Given the description of an element on the screen output the (x, y) to click on. 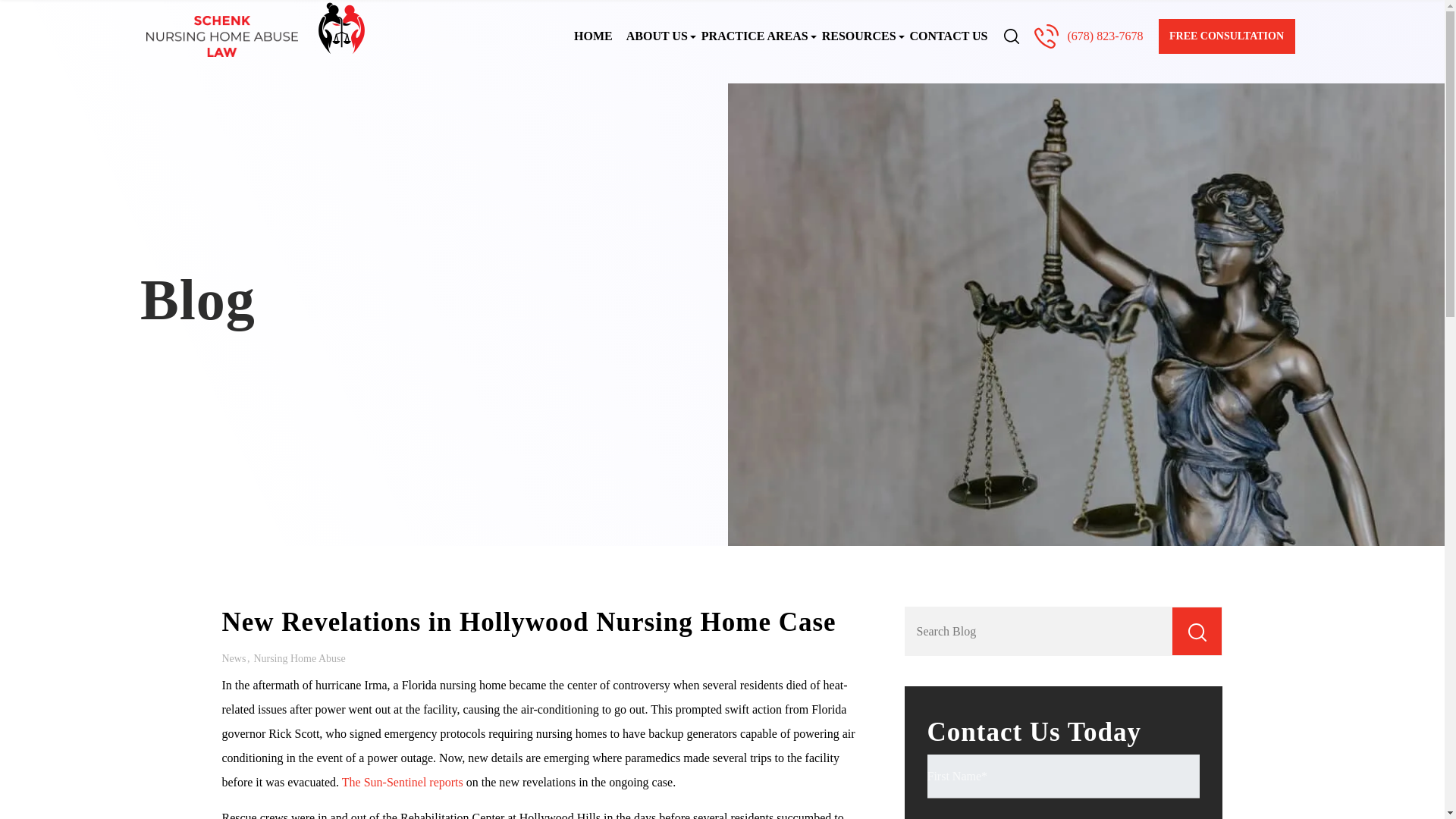
FREE CONSULTATION (1226, 36)
RESOURCES (858, 36)
CONTACT US (948, 36)
PRACTICE AREAS (754, 36)
